Given the description of an element on the screen output the (x, y) to click on. 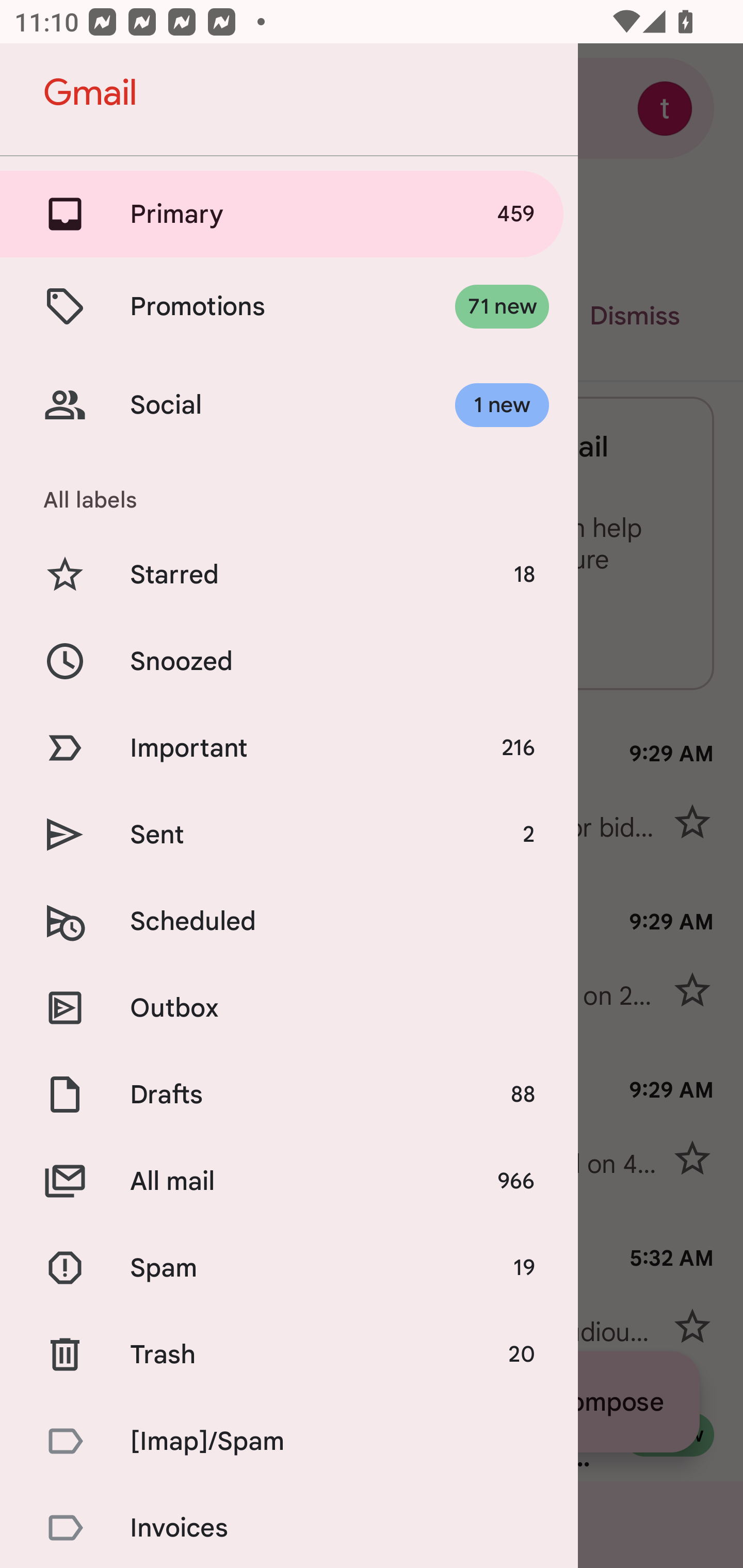
Primary 459 (289, 213)
Promotions 71 new (289, 306)
Social 1 new (289, 404)
Starred 18 (289, 574)
Snoozed (289, 660)
Important 216 (289, 747)
Sent 2 (289, 834)
Scheduled (289, 921)
Outbox (289, 1007)
Drafts 88 (289, 1094)
All mail 966 (289, 1181)
Spam 19 (289, 1267)
Trash 20 (289, 1353)
[Imap]/Spam (289, 1440)
Invoices (289, 1526)
